Given the description of an element on the screen output the (x, y) to click on. 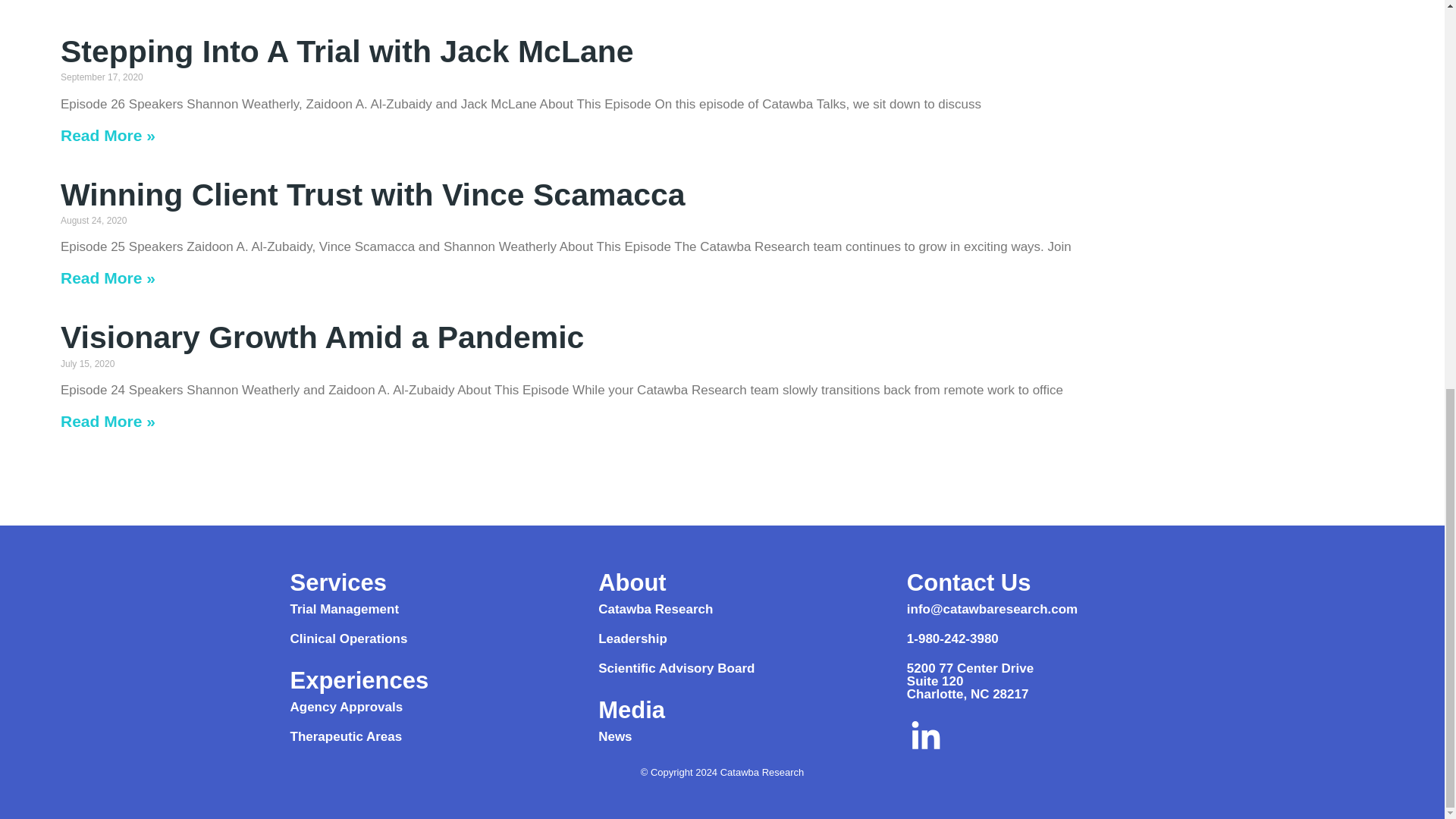
Stepping Into A Trial with Jack McLane (347, 51)
Visionary Growth Amid a Pandemic (322, 337)
Agency Approvals (346, 707)
Winning Client Trust with Vince Scamacca (373, 194)
Clinical Operations (348, 638)
Therapeutic Areas (345, 736)
Trial Management (343, 608)
